Given the description of an element on the screen output the (x, y) to click on. 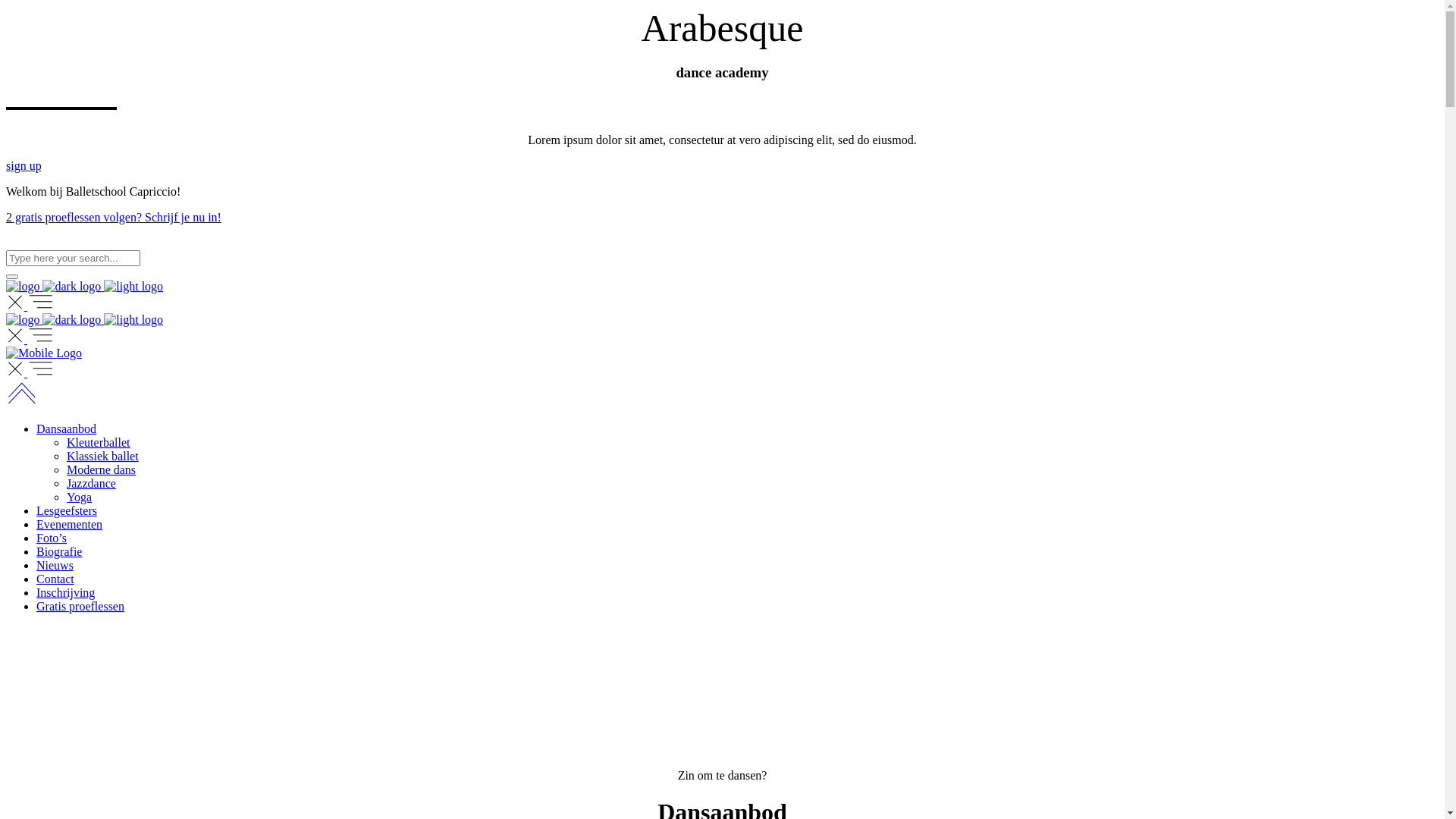
Biografie Element type: text (58, 551)
2 gratis proeflessen volgen? Schrijf je nu in! Element type: text (113, 216)
Klassiek ballet Element type: text (102, 455)
Evenementen Element type: text (69, 523)
Dansaanbod Element type: text (66, 428)
sign up Element type: text (23, 165)
Lesgeefsters Element type: text (66, 510)
Gratis proeflessen Element type: text (80, 605)
Contact Element type: text (55, 578)
Nieuws Element type: text (54, 564)
Moderne dans Element type: text (100, 469)
Jazzdance Element type: text (91, 482)
Yoga Element type: text (78, 496)
Kleuterballet Element type: text (98, 442)
Inschrijving Element type: text (65, 592)
